Given the description of an element on the screen output the (x, y) to click on. 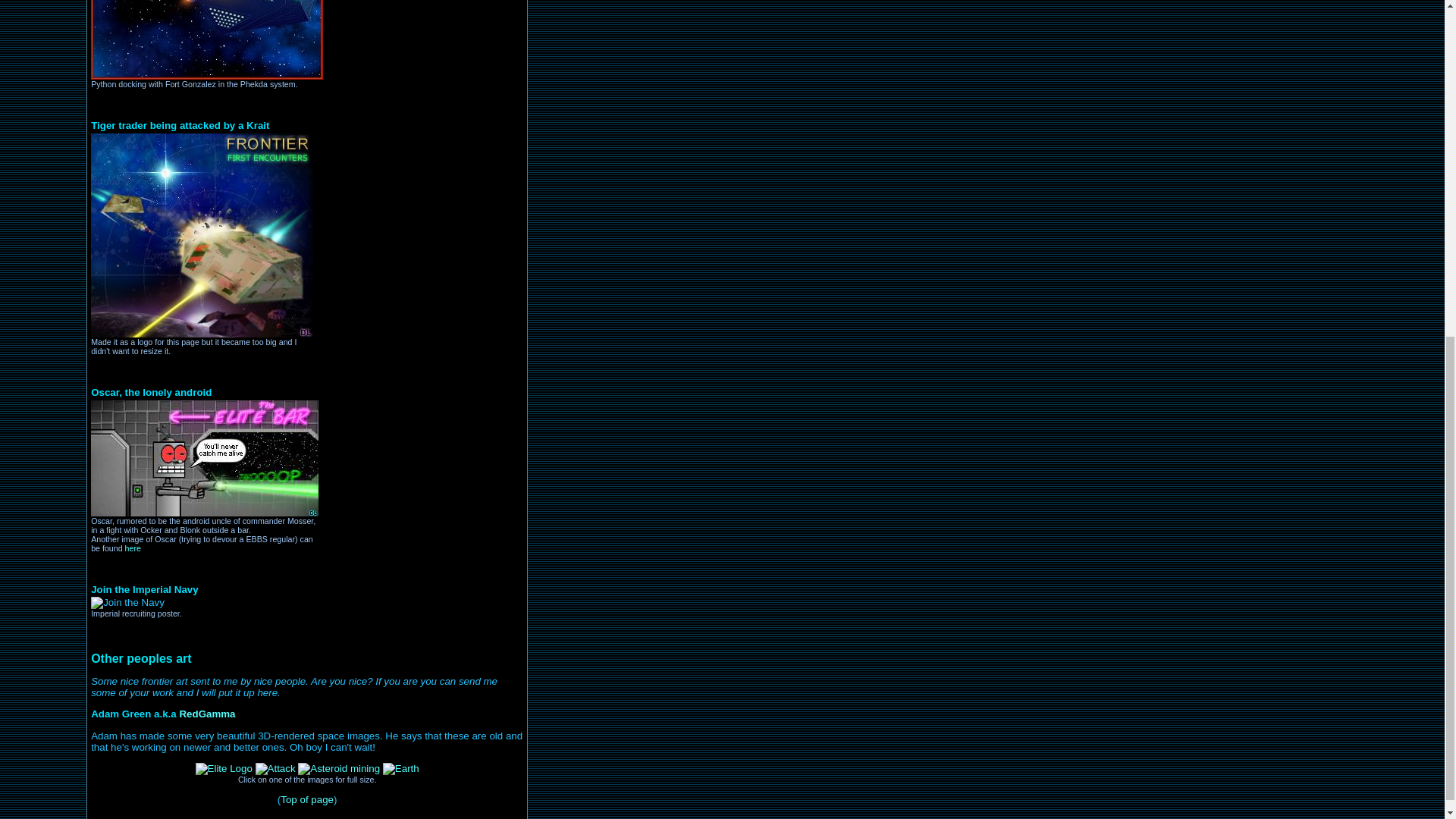
RedGamma (206, 713)
Top of page (307, 799)
here (133, 547)
